Given the description of an element on the screen output the (x, y) to click on. 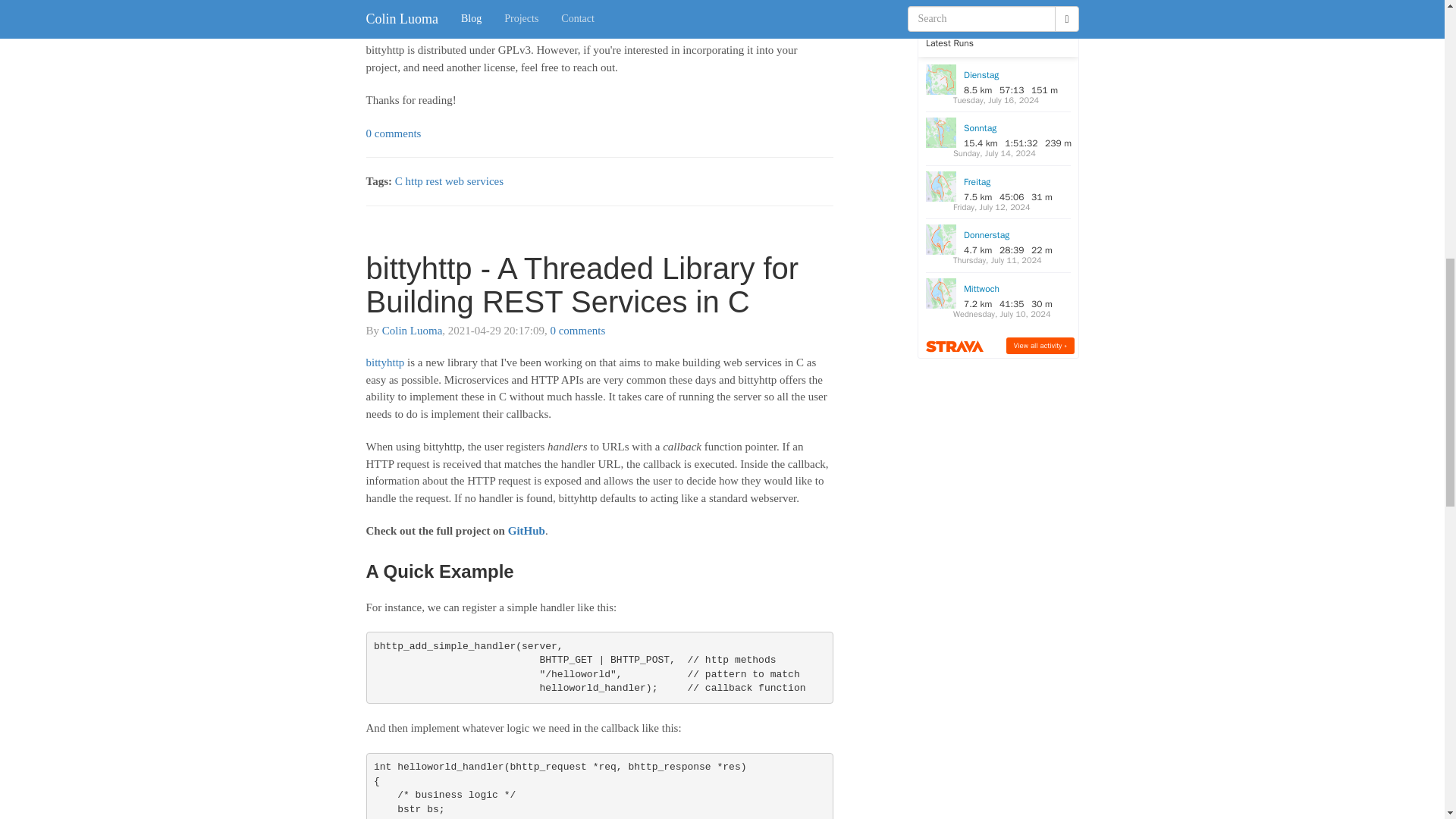
C (398, 181)
http (413, 181)
0 comments (392, 133)
bittyhttp (384, 362)
web services (474, 181)
GitHub (526, 530)
Colin Luoma (411, 330)
rest (434, 181)
0 comments (577, 330)
